Given the description of an element on the screen output the (x, y) to click on. 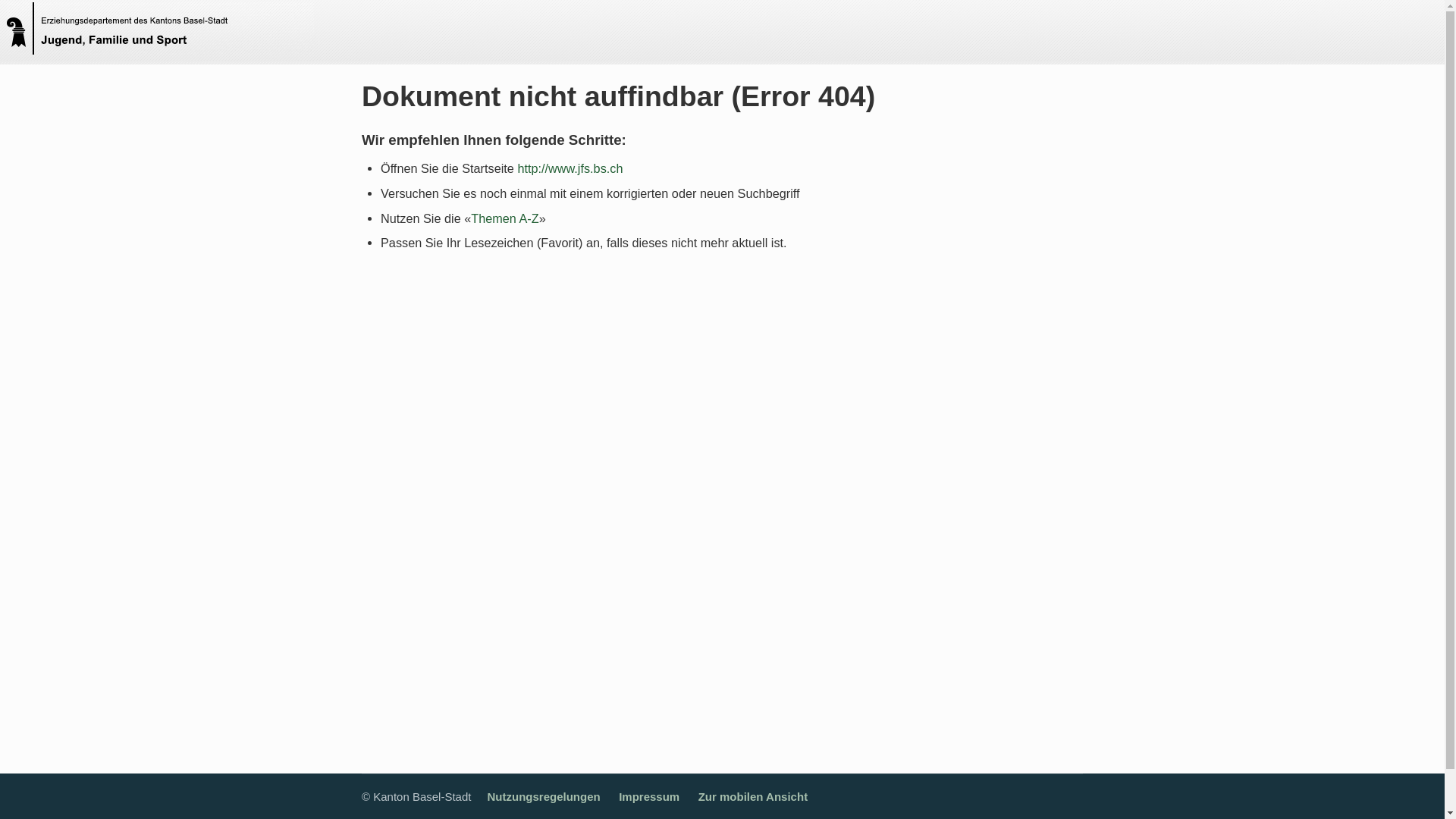
Zur mobilen Ansicht Element type: text (752, 796)
Nutzungsregelungen Element type: text (542, 796)
http://www.jfs.bs.ch Element type: text (569, 168)
Themen A-Z Element type: text (504, 217)
Impressum Element type: text (648, 796)
